Given the description of an element on the screen output the (x, y) to click on. 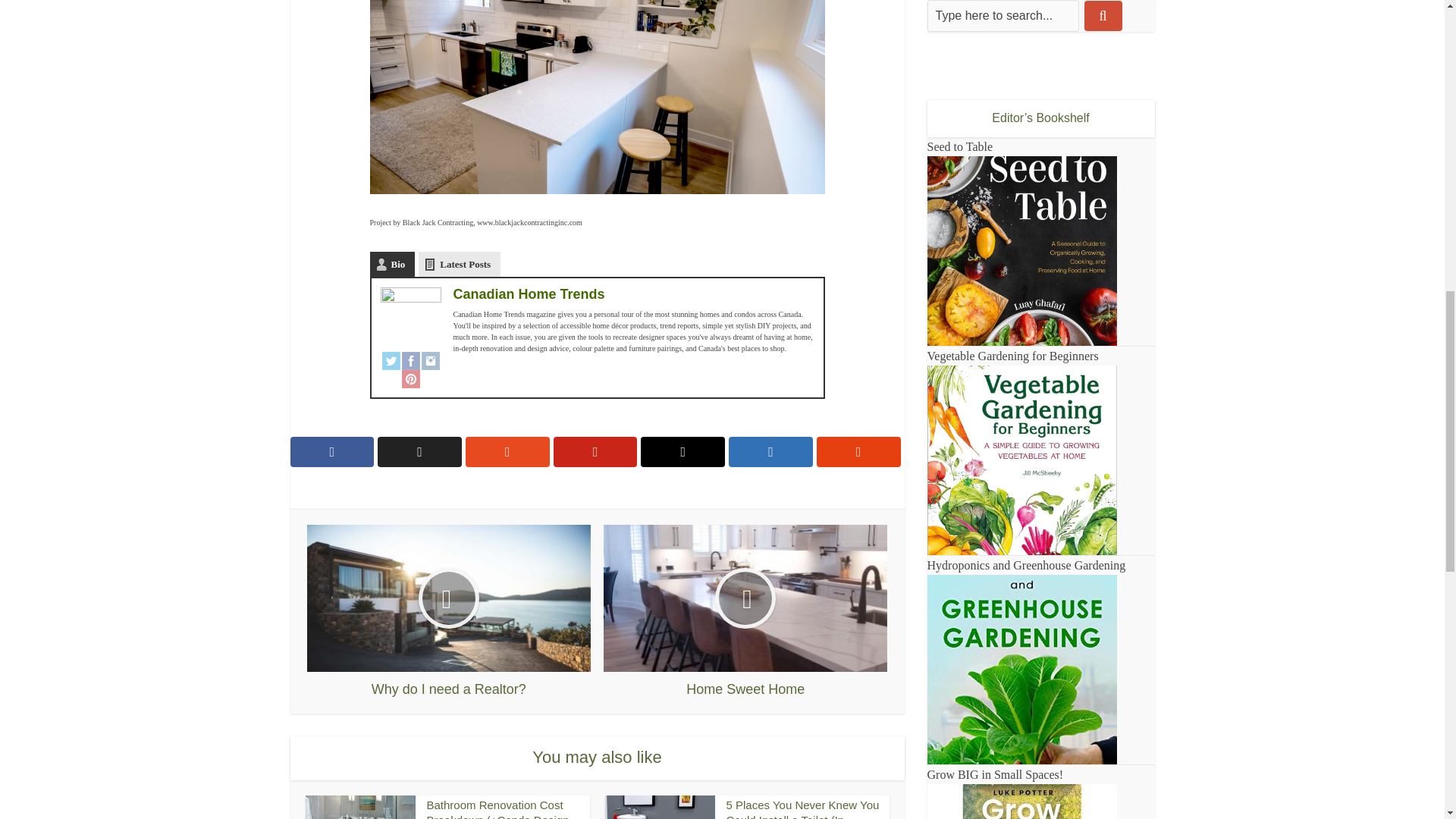
Type here to search... (1002, 15)
Facebook (410, 361)
Instagram (430, 361)
Pinterest (410, 379)
Type here to search... (1002, 15)
Twitter (390, 361)
